Given the description of an element on the screen output the (x, y) to click on. 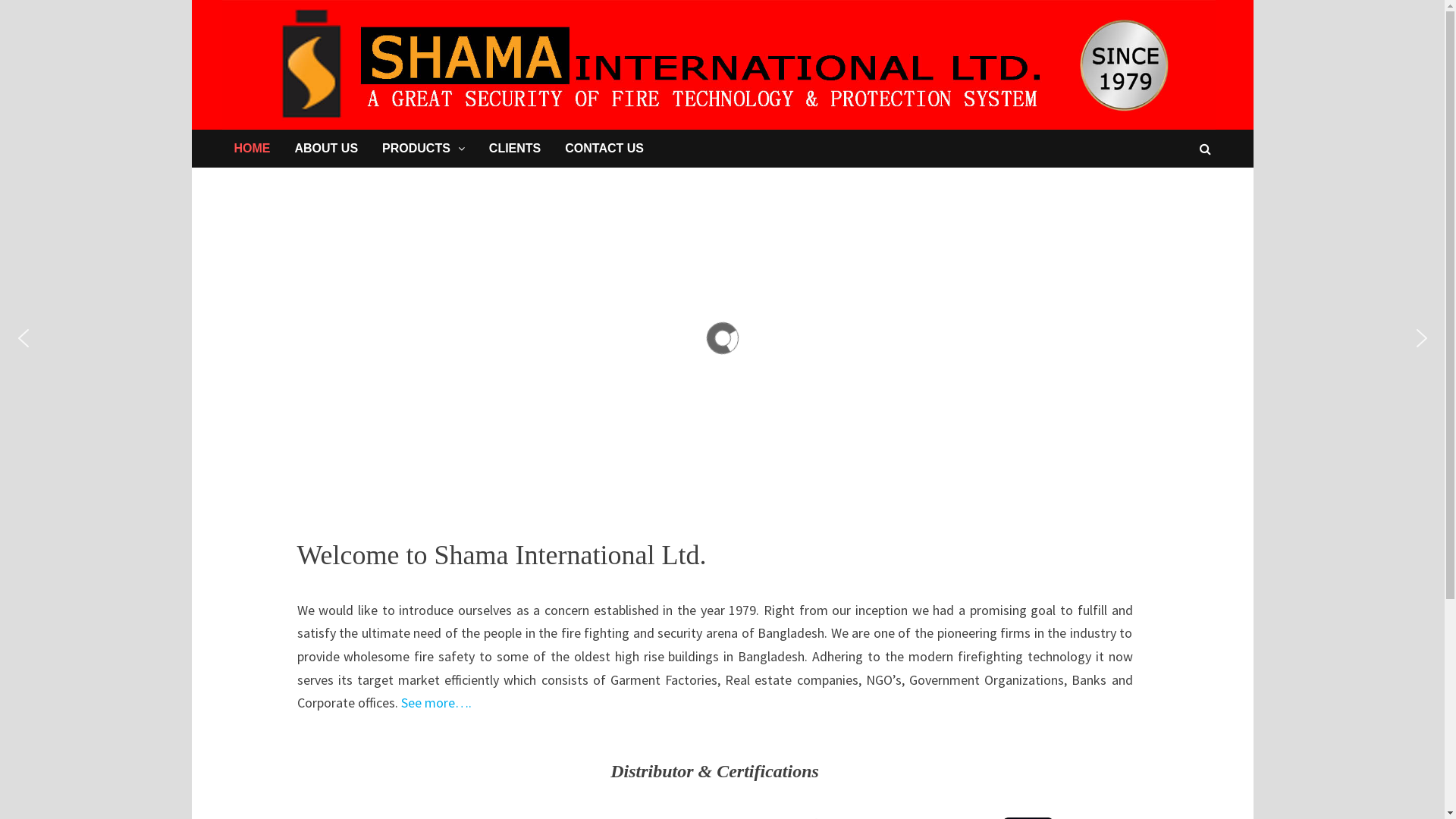
HOME Element type: text (251, 148)
PRODUCTS Element type: text (423, 148)
ABOUT US Element type: text (326, 148)
CLIENTS Element type: text (514, 148)
CONTACT US Element type: text (603, 148)
